Given the description of an element on the screen output the (x, y) to click on. 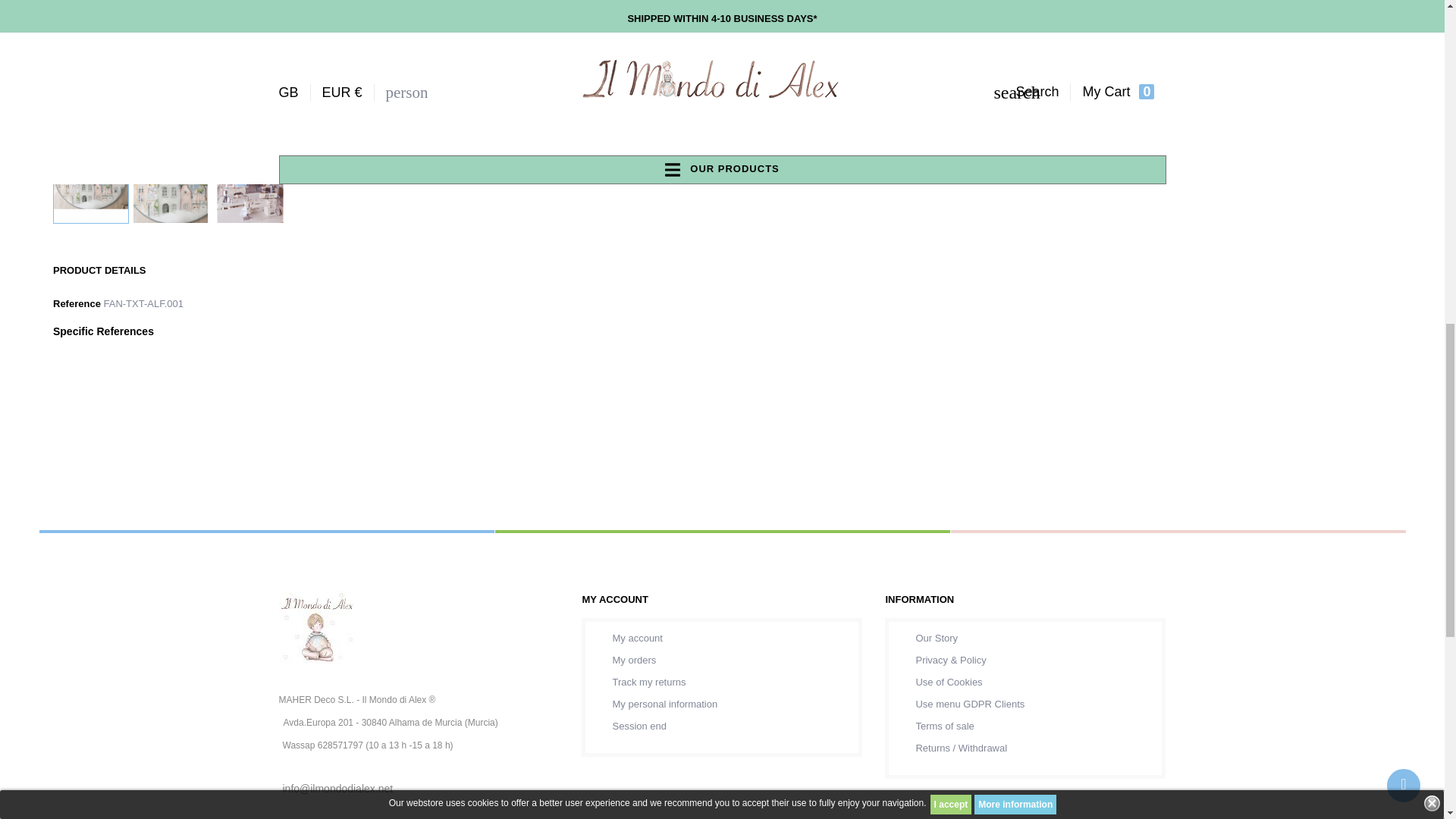
Tweet (751, 7)
Pinterest (679, 7)
Share (788, 7)
